Given the description of an element on the screen output the (x, y) to click on. 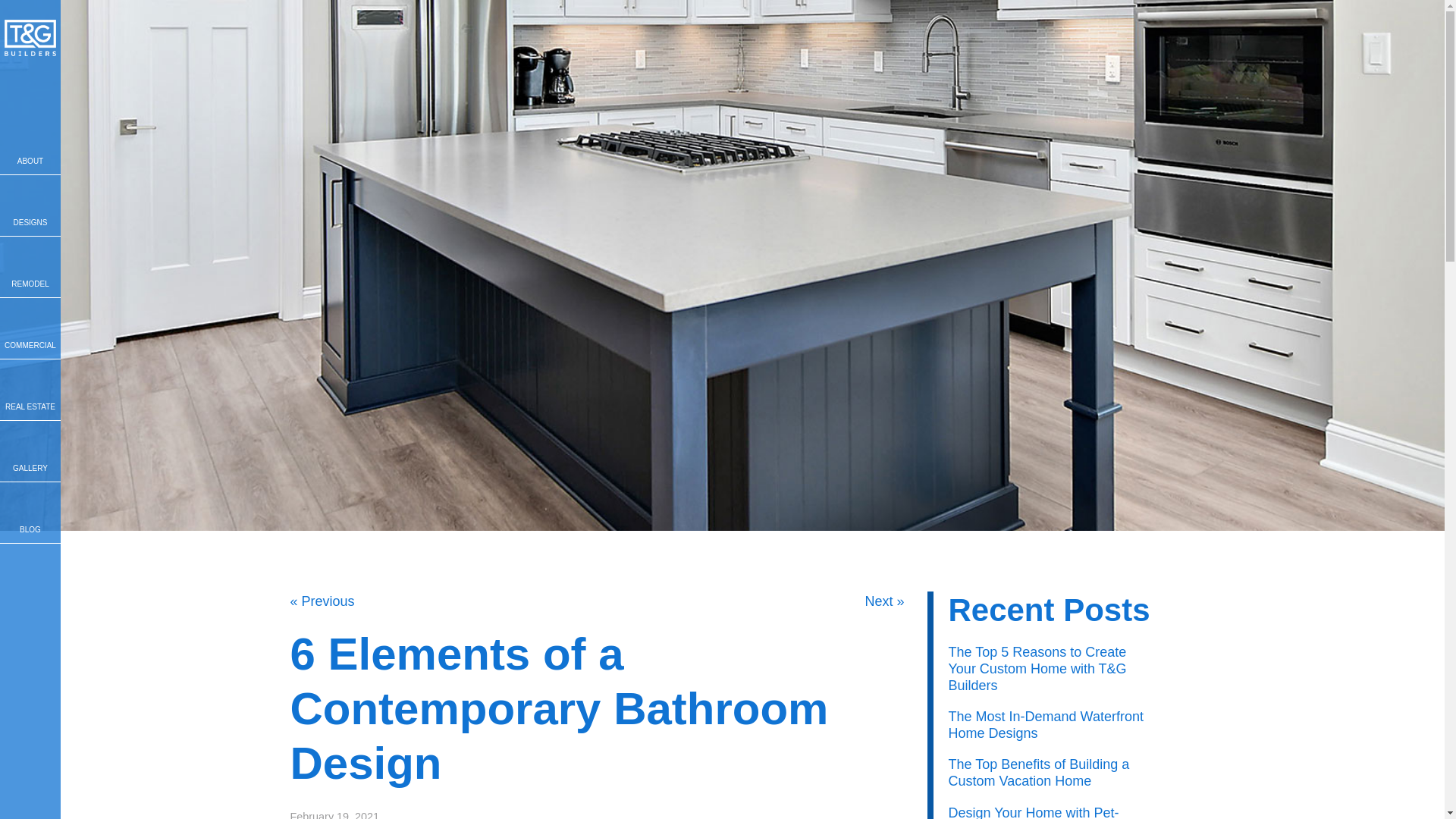
DESIGNS (30, 205)
REAL ESTATE (30, 389)
REMODEL (30, 266)
BLOG (30, 512)
ABOUT (30, 143)
COMMERCIAL (30, 328)
GALLERY (30, 450)
